Given the description of an element on the screen output the (x, y) to click on. 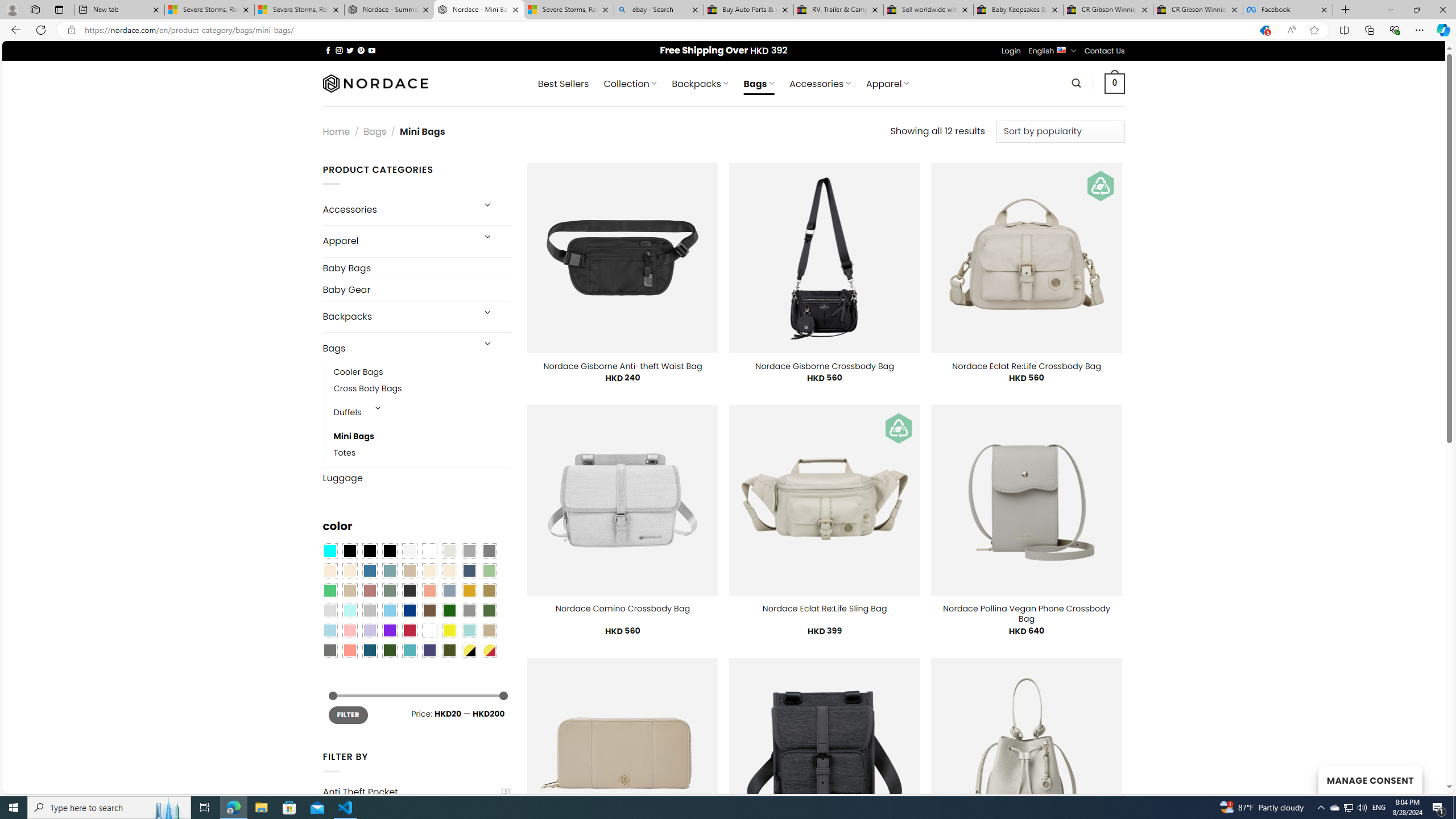
Mini Bags (422, 436)
English (1061, 49)
Contact Us (1104, 50)
Cream (449, 570)
  Best Sellers (563, 83)
